Given the description of an element on the screen output the (x, y) to click on. 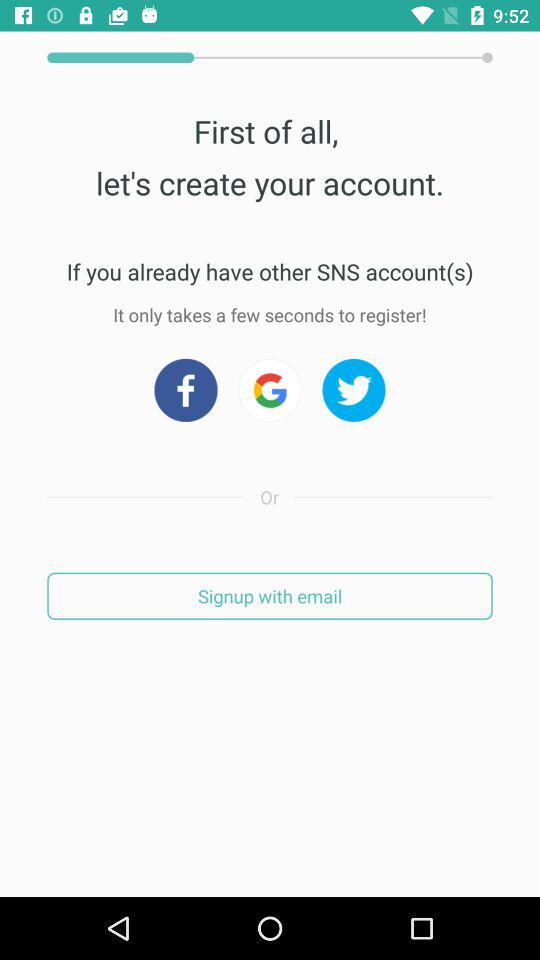
share via twitter (353, 389)
